Given the description of an element on the screen output the (x, y) to click on. 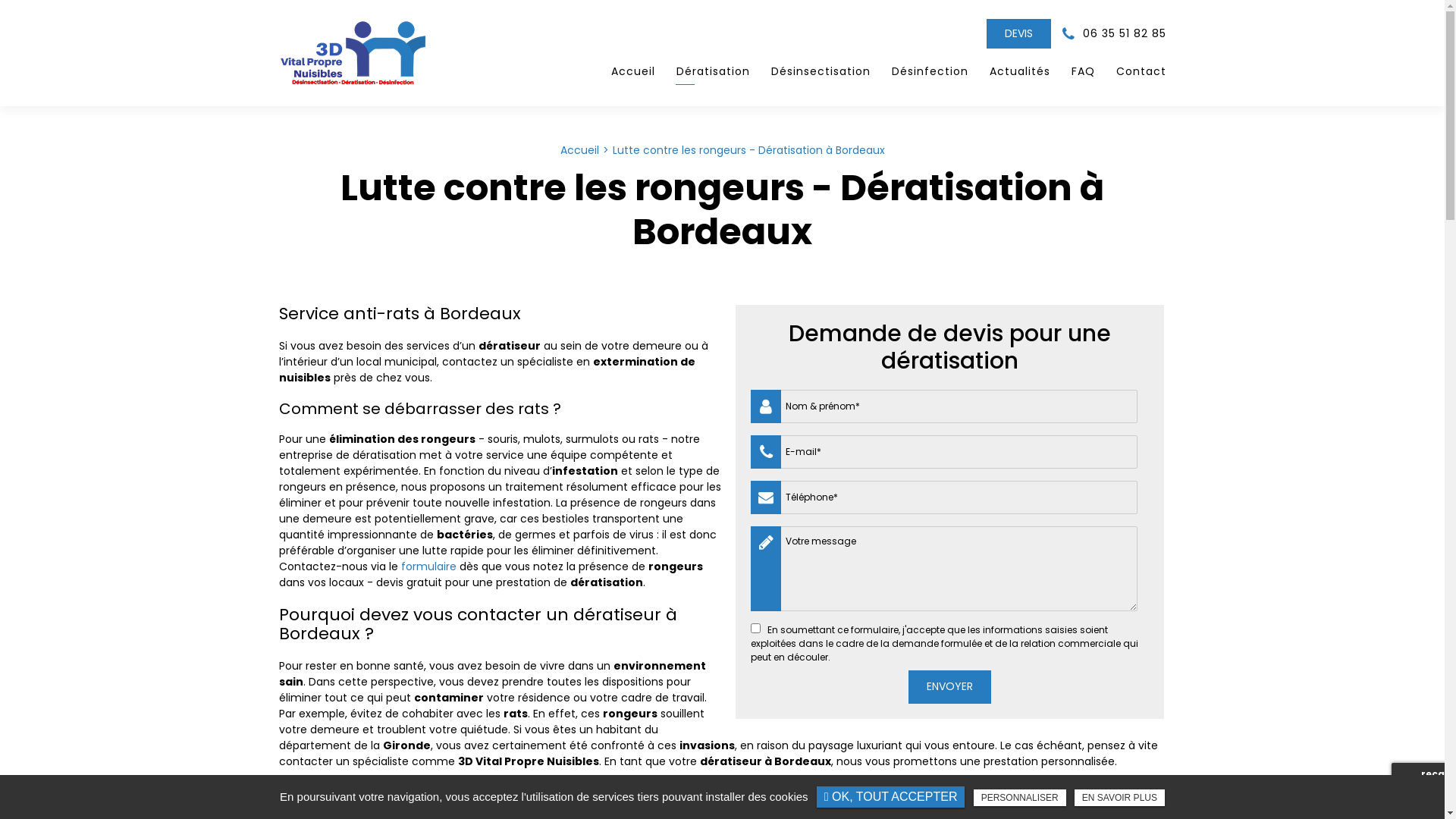
FAQ Element type: text (1082, 71)
Accueil Element type: text (578, 150)
EN SAVOIR PLUS Element type: text (1119, 797)
PERSONNALISER Element type: text (1019, 797)
Accueil Element type: text (632, 71)
Contact Element type: text (1135, 71)
06 35 51 82 85 Element type: text (1113, 33)
formulaire Element type: text (427, 566)
3D Vital Propre Element type: hover (352, 52)
Envoyer Element type: text (949, 686)
DEVIS Element type: text (1017, 33)
